Given the description of an element on the screen output the (x, y) to click on. 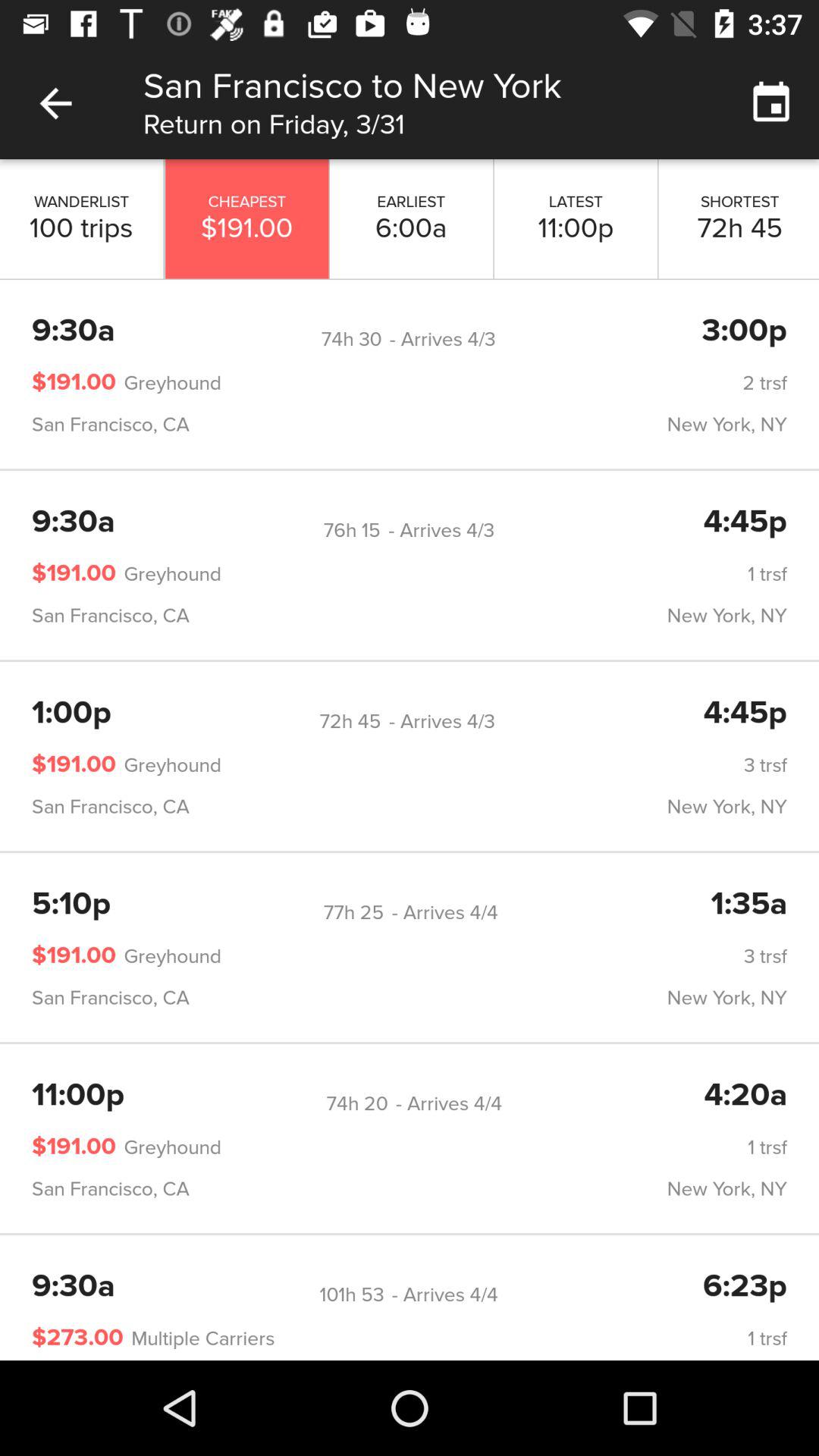
launch item next to the 9:30a (351, 1294)
